Given the description of an element on the screen output the (x, y) to click on. 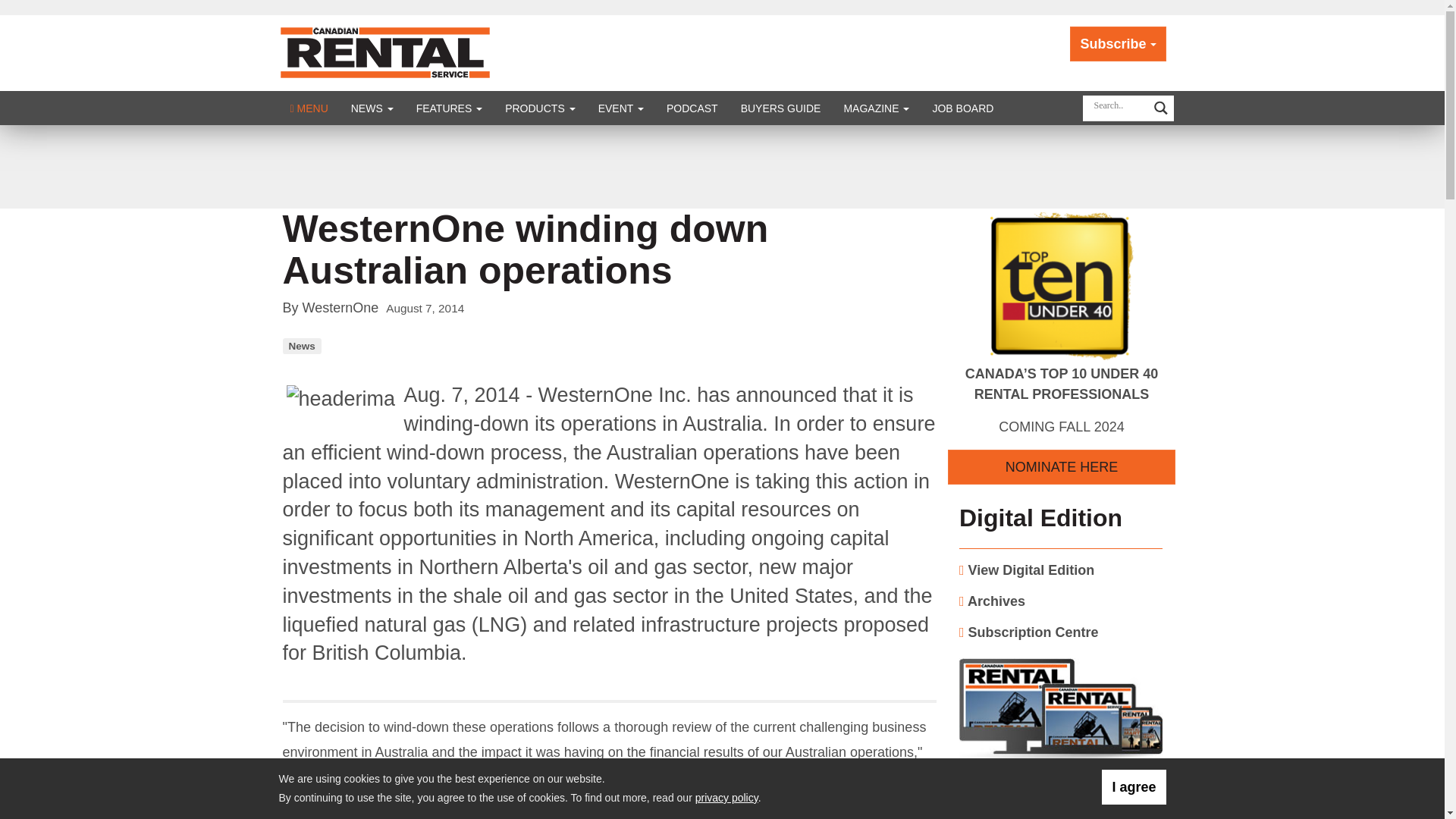
Click to show site navigation (309, 107)
EVENT (620, 107)
MENU (309, 107)
PRODUCTS (539, 107)
NEWS (371, 107)
Canadian Rental Service (385, 52)
headerimage (343, 402)
Subscribe (1118, 43)
3rd party ad content (721, 166)
FEATURES (449, 107)
